Given the description of an element on the screen output the (x, y) to click on. 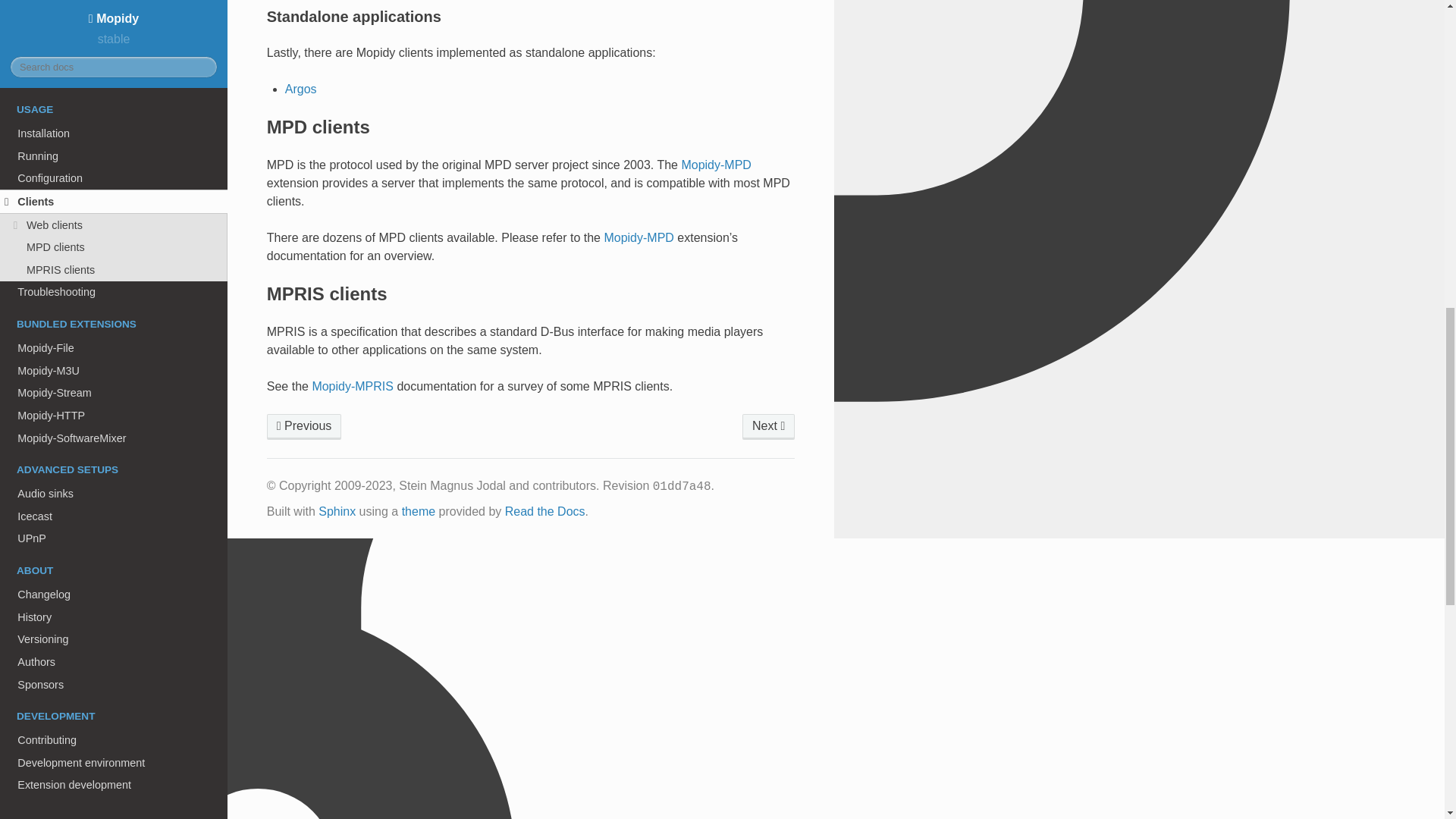
Glossary (113, 111)
Troubleshooting (768, 426)
Release procedures (113, 11)
API reference (113, 66)
Configuration (304, 426)
mopidy command (113, 88)
